Given the description of an element on the screen output the (x, y) to click on. 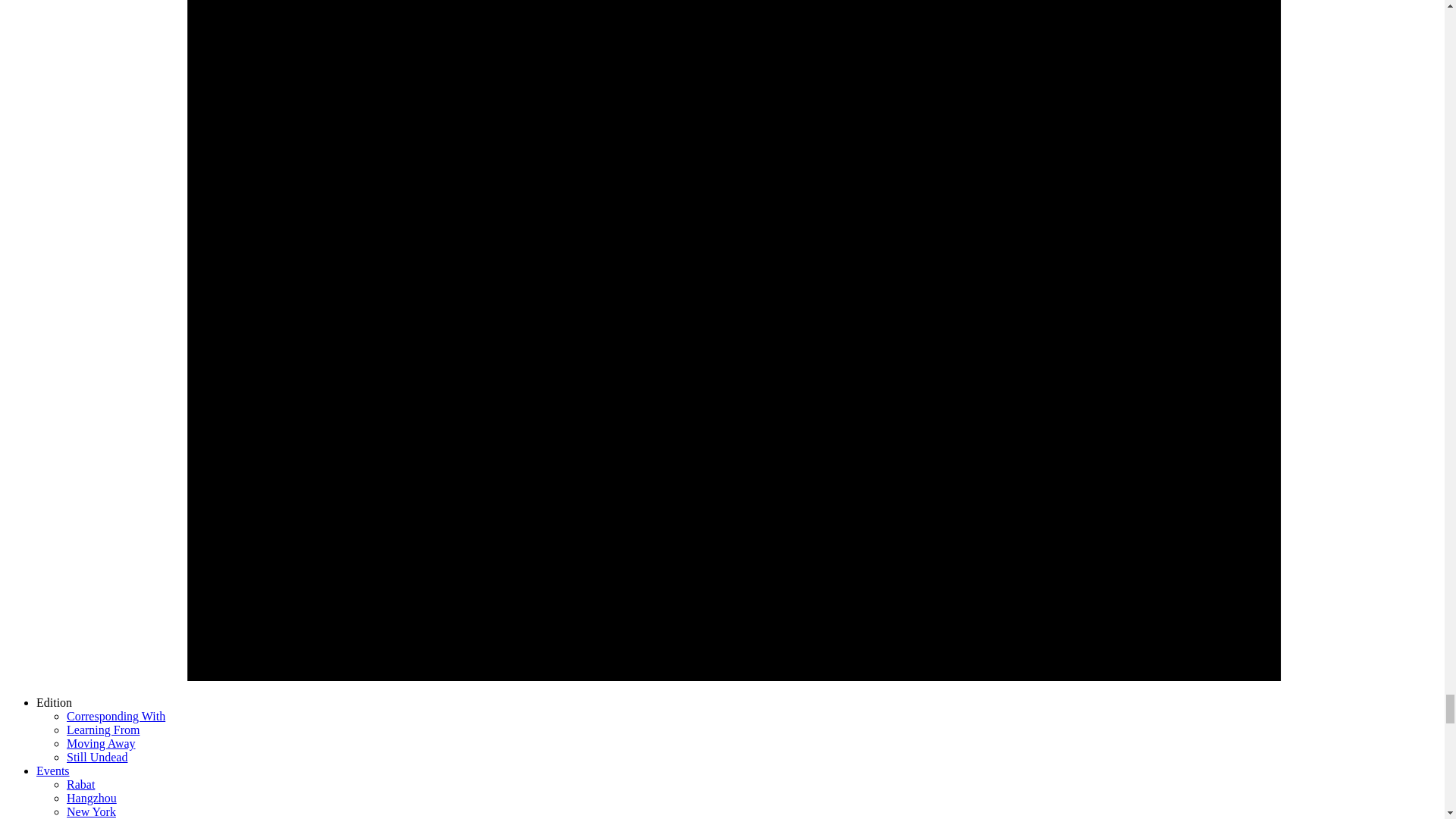
Hangzhou (91, 797)
Rabat (80, 784)
Moving Away (100, 743)
New York (91, 811)
Corresponding With (115, 716)
Still Undead (97, 757)
Learning From (102, 729)
Events (52, 770)
